Given the description of an element on the screen output the (x, y) to click on. 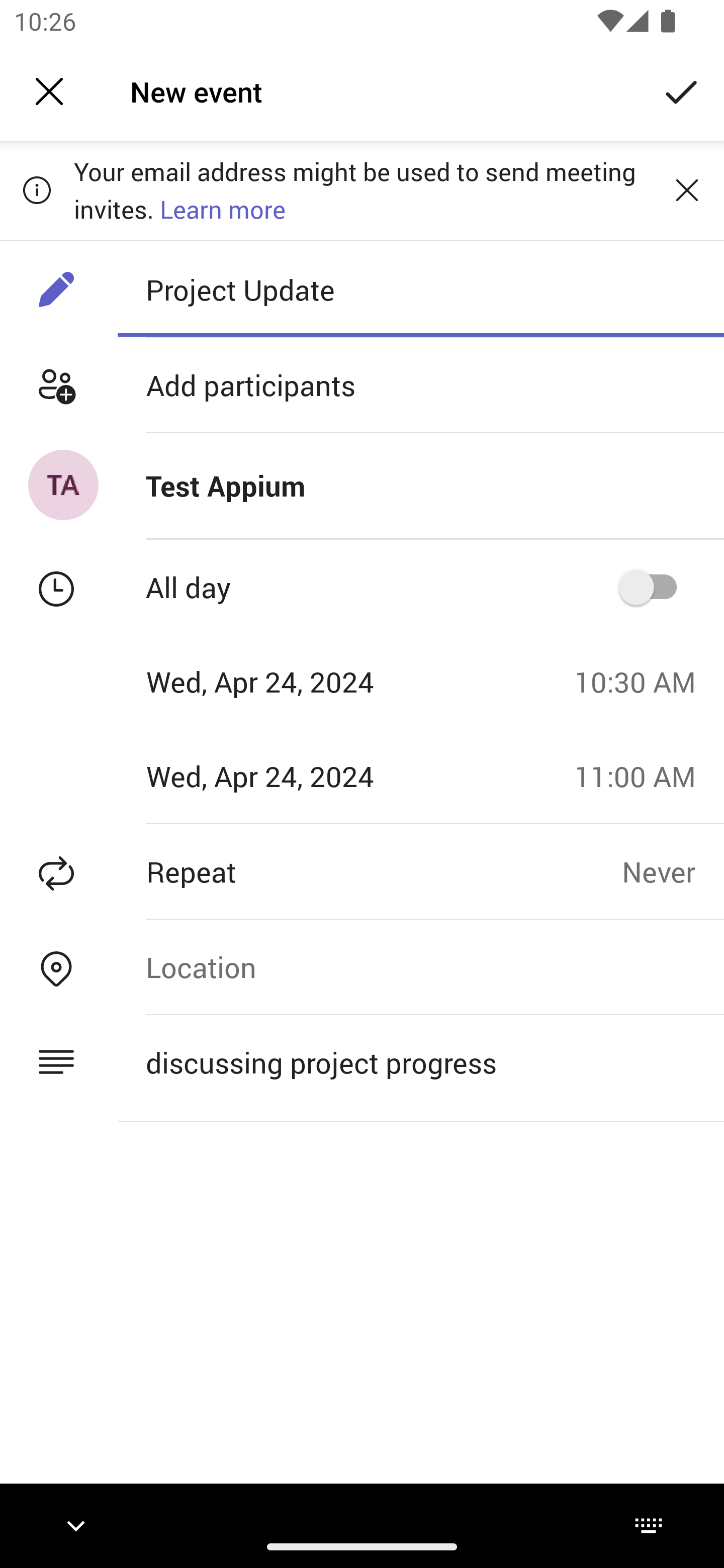
Back (49, 91)
Send invite (681, 90)
Dismiss banner (687, 189)
Project Update (420, 289)
Add participants Add participants option (362, 384)
All day (654, 586)
Wed, Apr 24, 2024 Starts Wednesday Apr 24, 2024 (280, 681)
10:30 AM Start time 10:30 AM (642, 681)
Wed, Apr 24, 2024 Ends Wednesday Apr 24, 2024 (280, 776)
11:00 AM End time 11:00 AM (642, 776)
Repeat (310, 871)
Never Repeat Never (672, 871)
Location (420, 967)
